Given the description of an element on the screen output the (x, y) to click on. 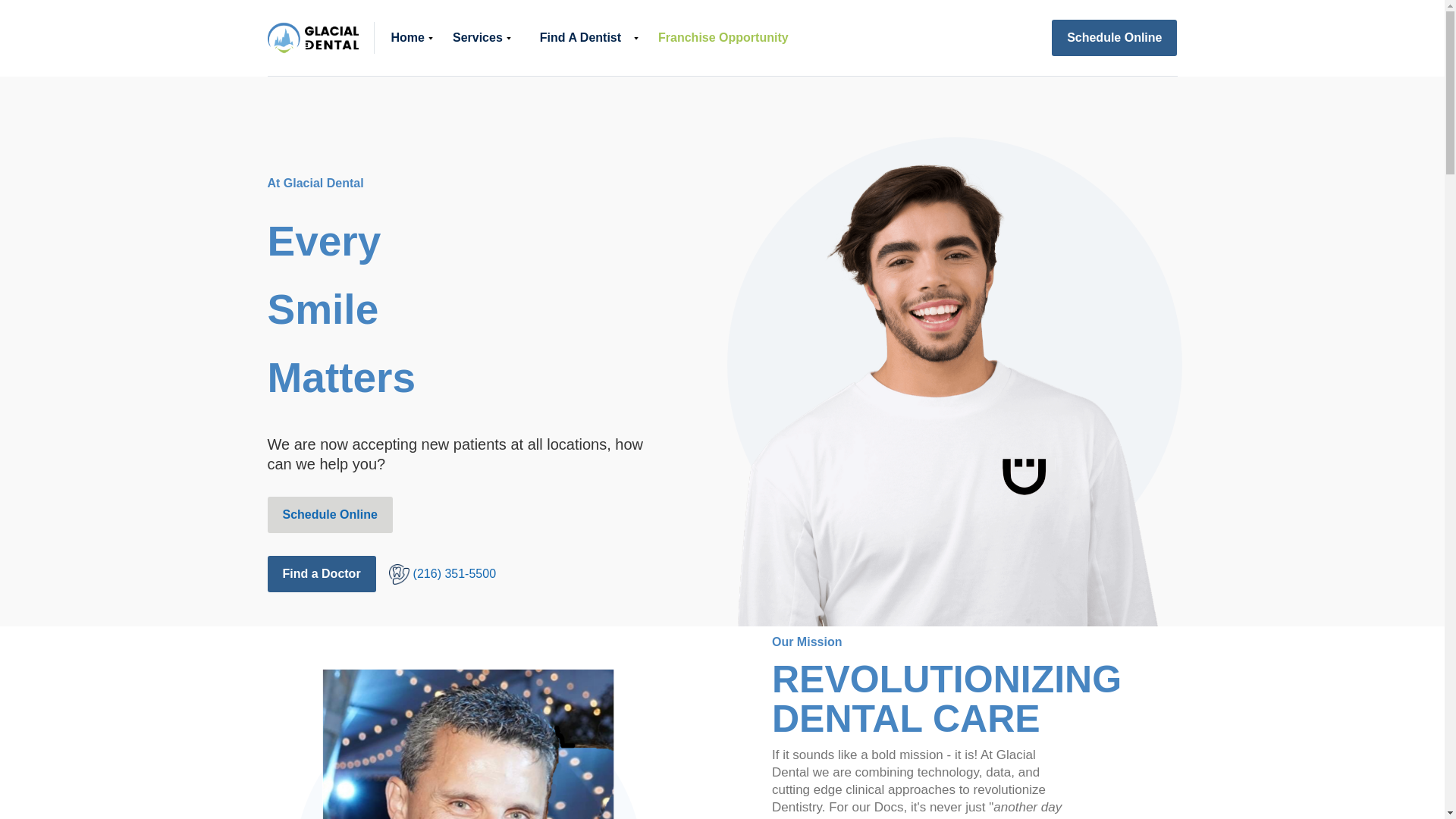
Find A Dentist (580, 37)
Franchise Opportunity (723, 37)
Schedule Online (328, 514)
Schedule Online (1113, 37)
Find a Doctor (320, 574)
